Given the description of an element on the screen output the (x, y) to click on. 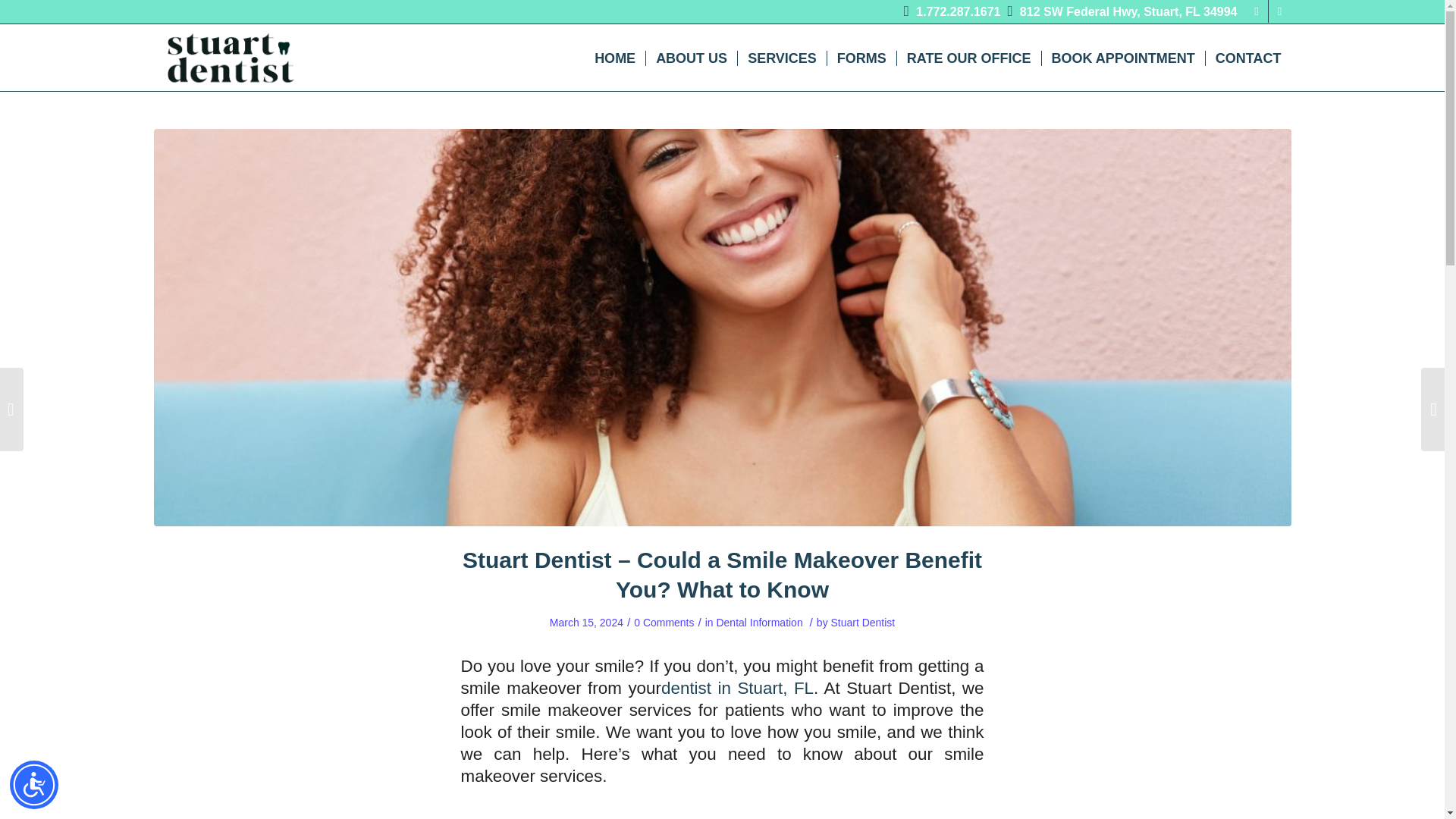
Posts by Stuart Dentist (863, 622)
RATE OUR OFFICE (968, 57)
ABOUT US (690, 57)
FORMS (861, 57)
Facebook (1255, 11)
HOME (615, 57)
SERVICES (781, 57)
Accessibility Menu (34, 784)
